Given the description of an element on the screen output the (x, y) to click on. 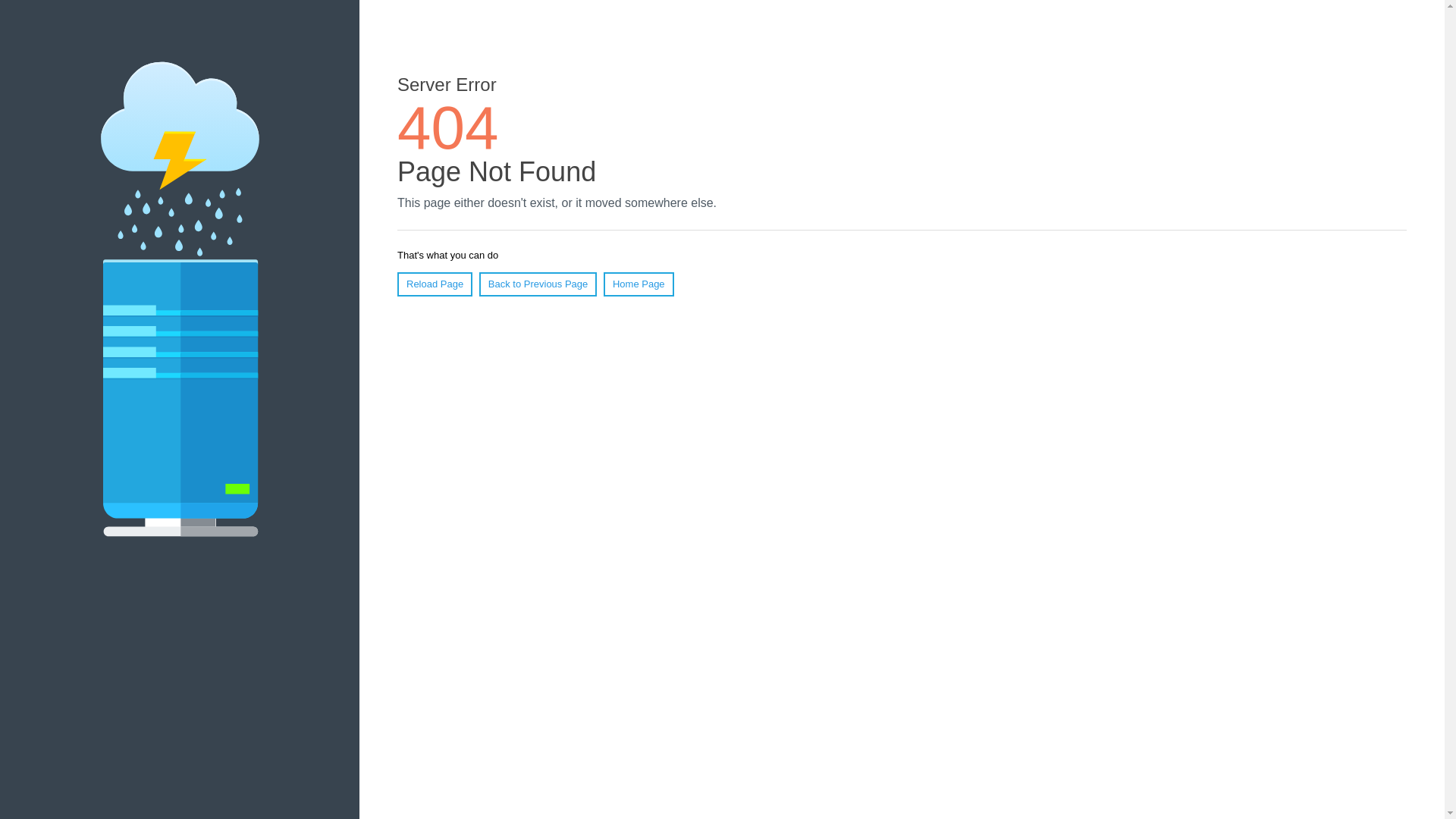
Reload Page Element type: text (434, 284)
Home Page Element type: text (638, 284)
Back to Previous Page Element type: text (538, 284)
